Given the description of an element on the screen output the (x, y) to click on. 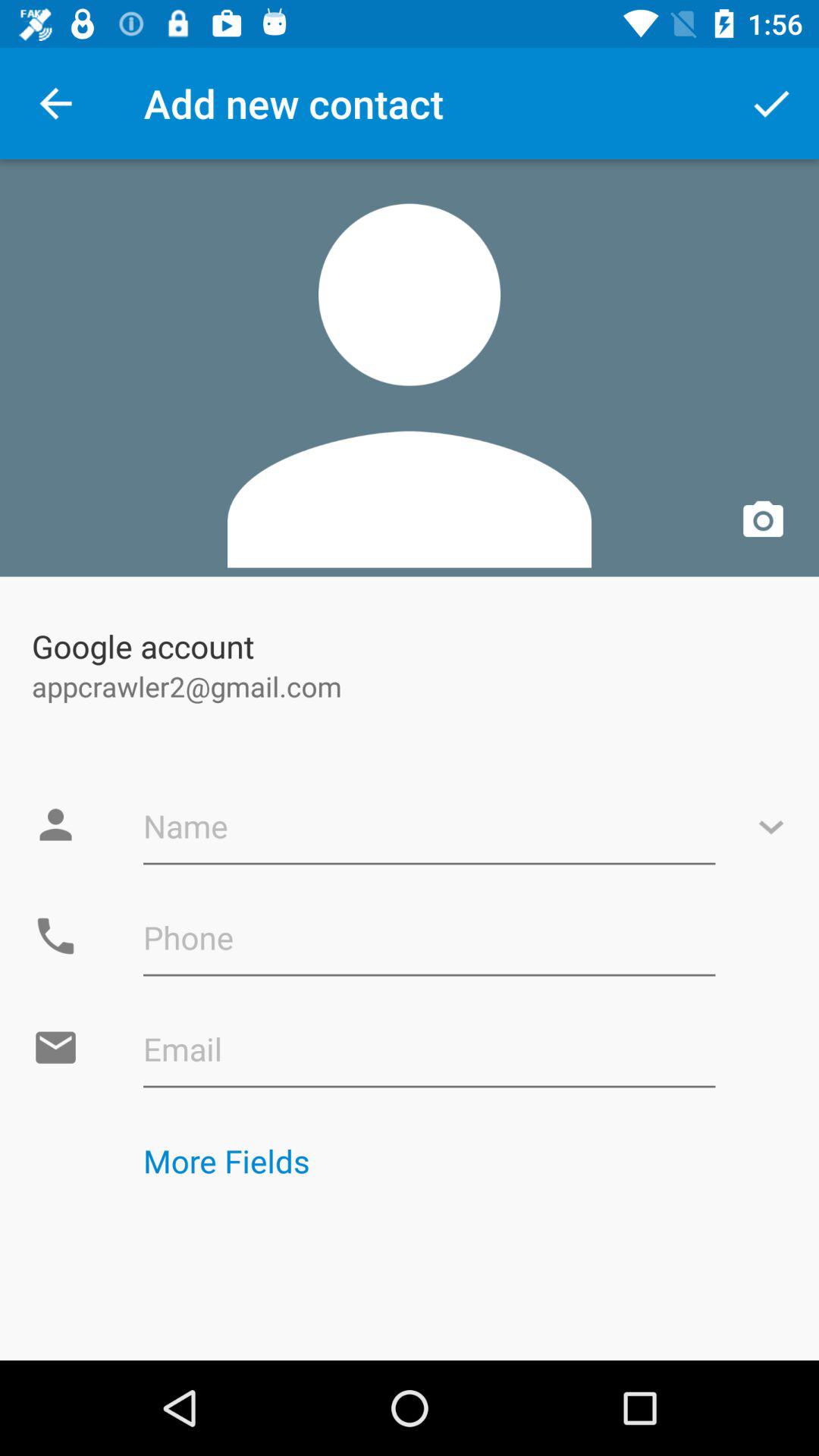
choose the item at the top right corner (771, 103)
